Given the description of an element on the screen output the (x, y) to click on. 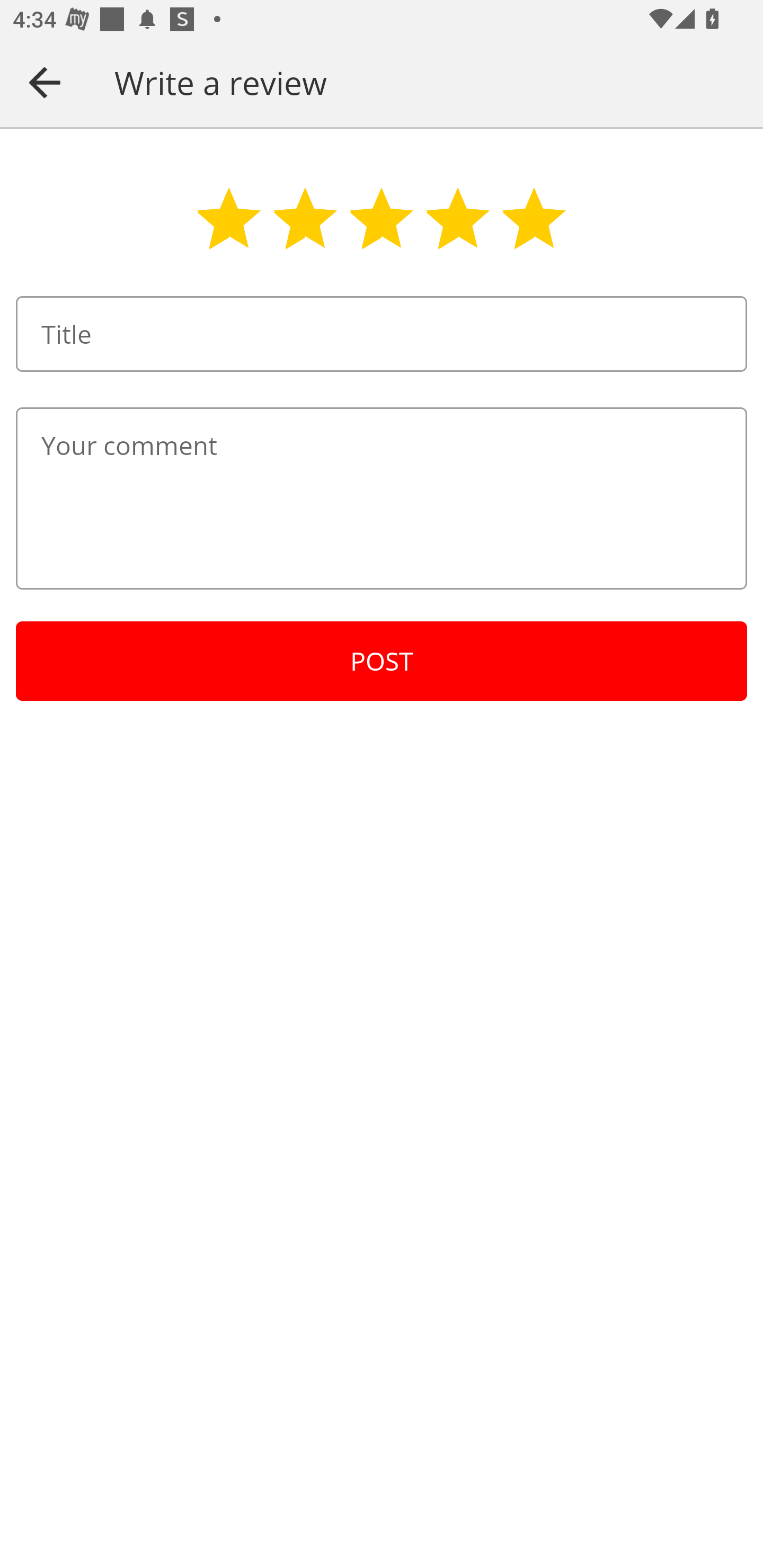
Navigate up (44, 82)
Title (381, 333)
Your comment (381, 498)
POST (381, 660)
